Given the description of an element on the screen output the (x, y) to click on. 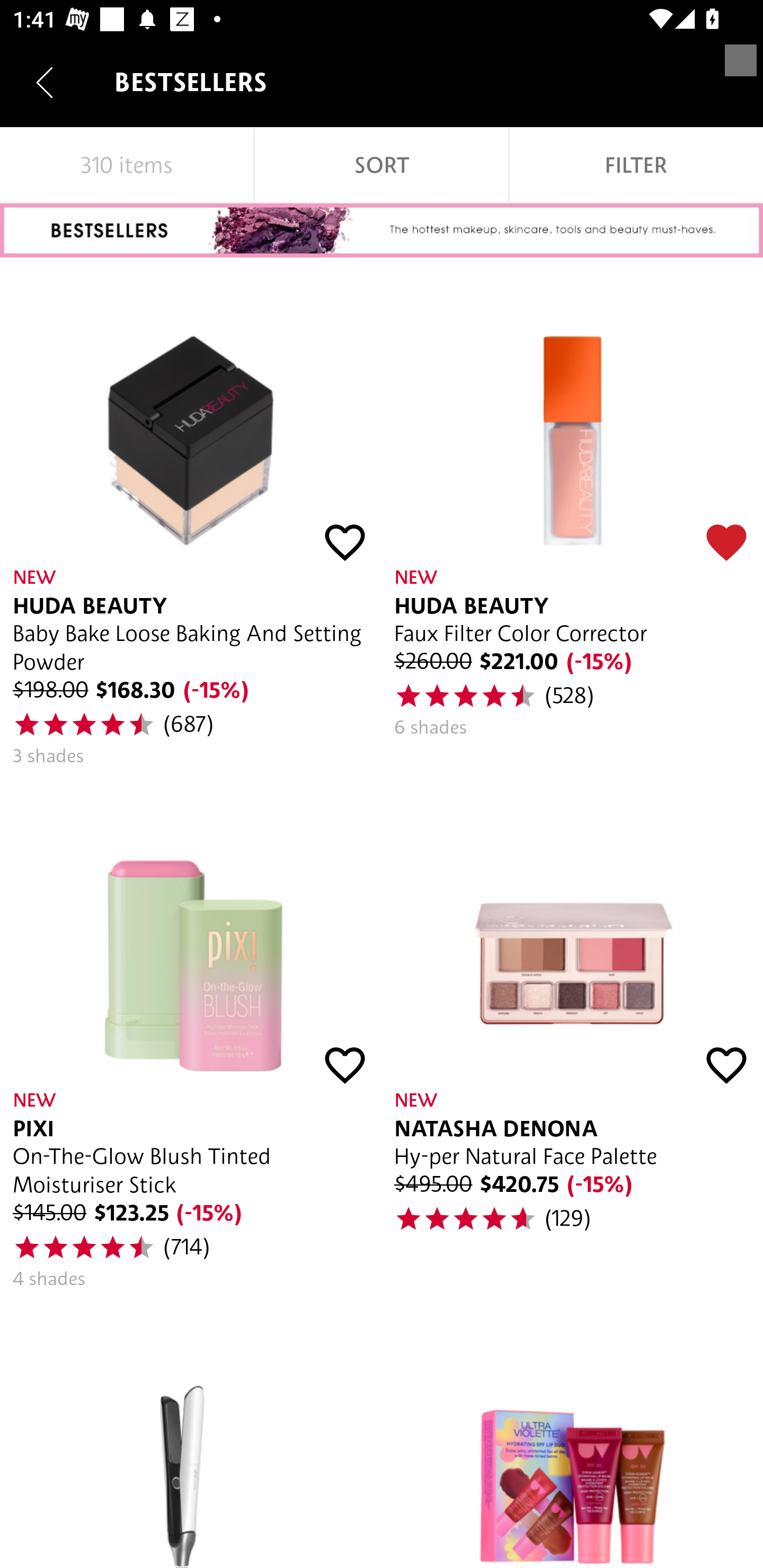
Navigate up (44, 82)
SORT (381, 165)
FILTER (636, 165)
